Given the description of an element on the screen output the (x, y) to click on. 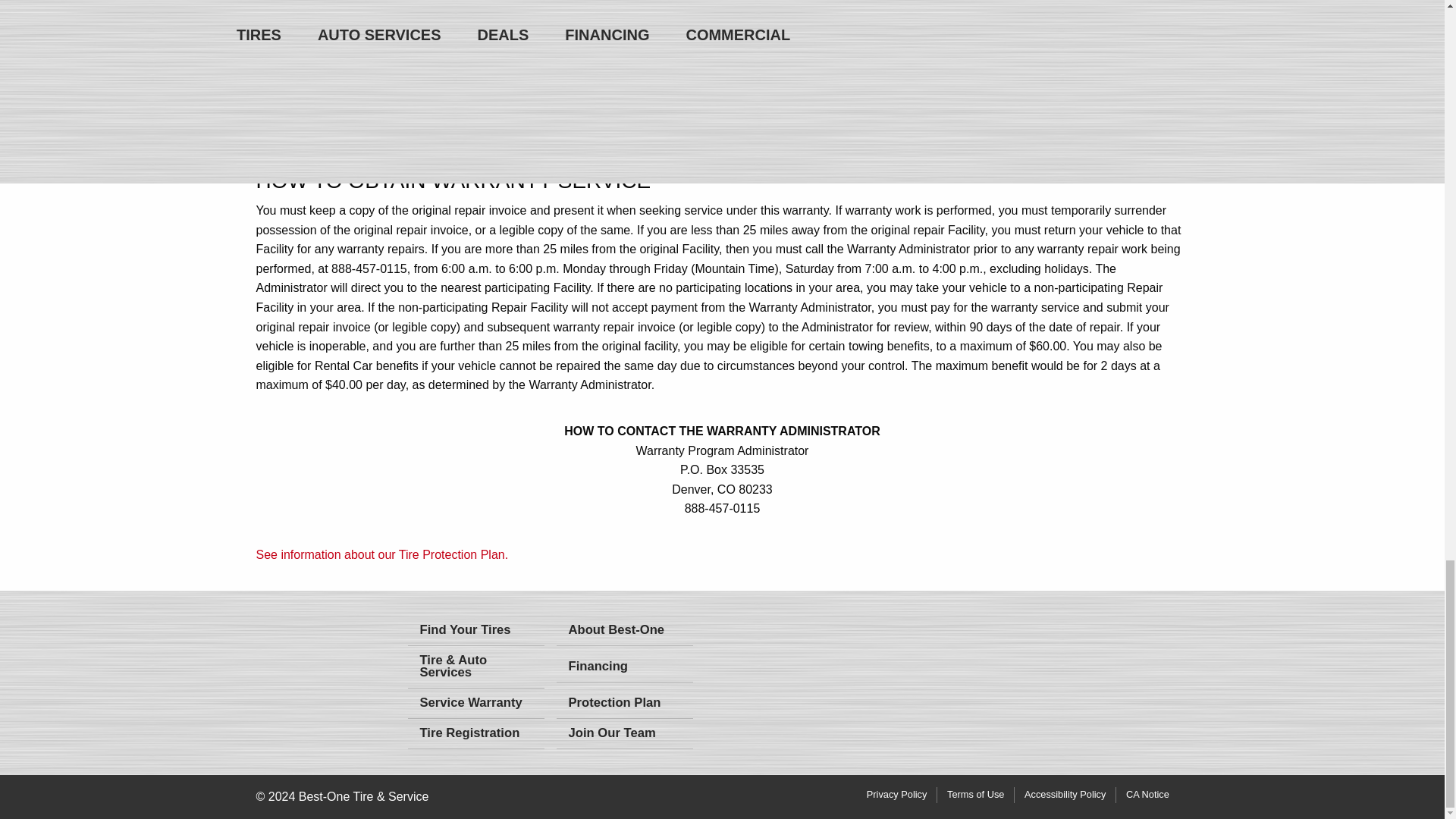
Tire Registration (475, 733)
About Best-One (624, 629)
Terms of Use (975, 794)
Service Warranty (475, 703)
Tire Protection Plan (382, 554)
Privacy Policy (896, 794)
Protection Plan (624, 703)
See information about our Tire Protection Plan. (382, 554)
Accessibility Policy (1065, 794)
Financing (624, 666)
